Given the description of an element on the screen output the (x, y) to click on. 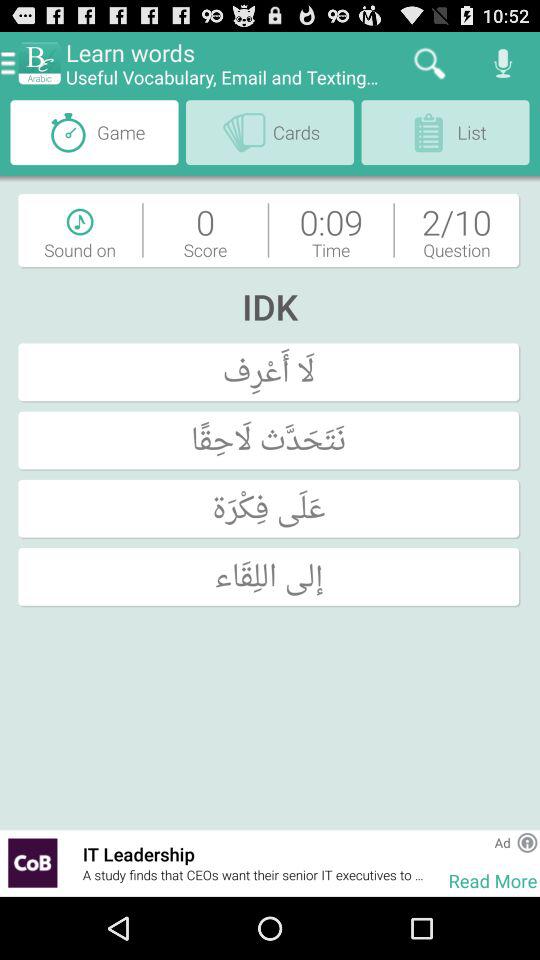
select icon next to the it leadership (73, 862)
